Given the description of an element on the screen output the (x, y) to click on. 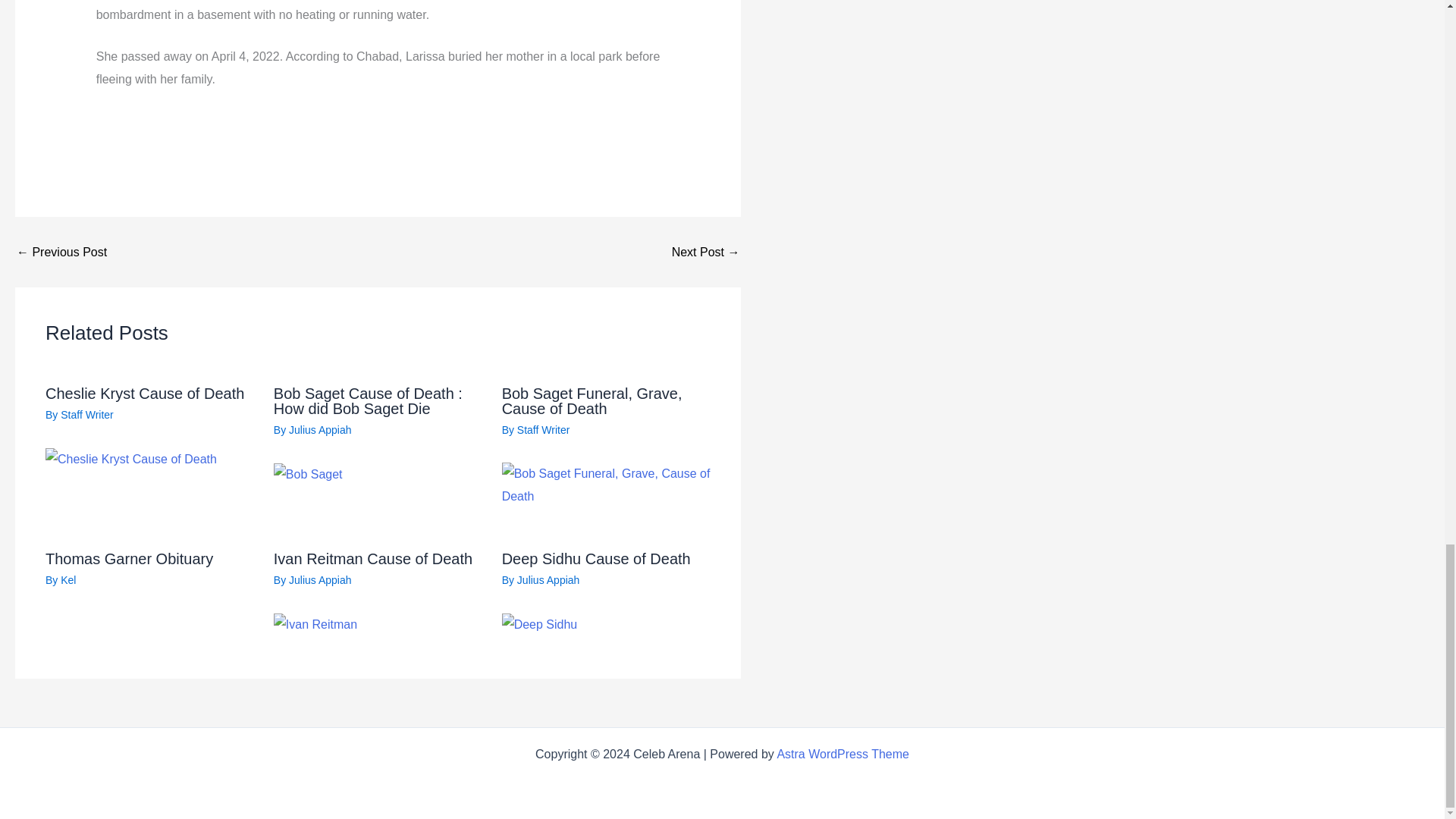
View all posts by Staff Writer (87, 414)
View all posts by Kel (68, 580)
View all posts by Julius Appiah (320, 429)
View all posts by Julius Appiah (320, 580)
View all posts by Staff Writer (543, 429)
View all posts by Julius Appiah (547, 580)
